Given the description of an element on the screen output the (x, y) to click on. 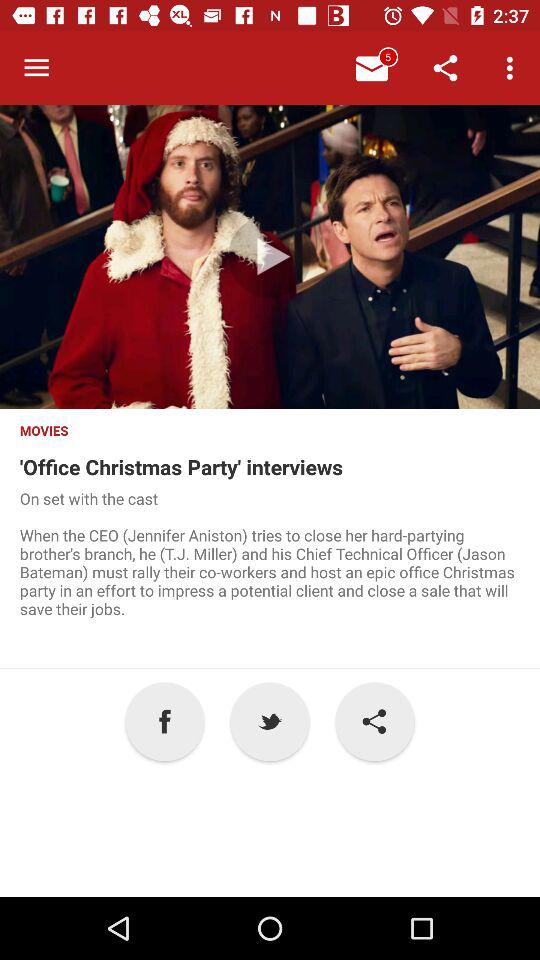
turn off the icon to the left of the ! (269, 721)
